Given the description of an element on the screen output the (x, y) to click on. 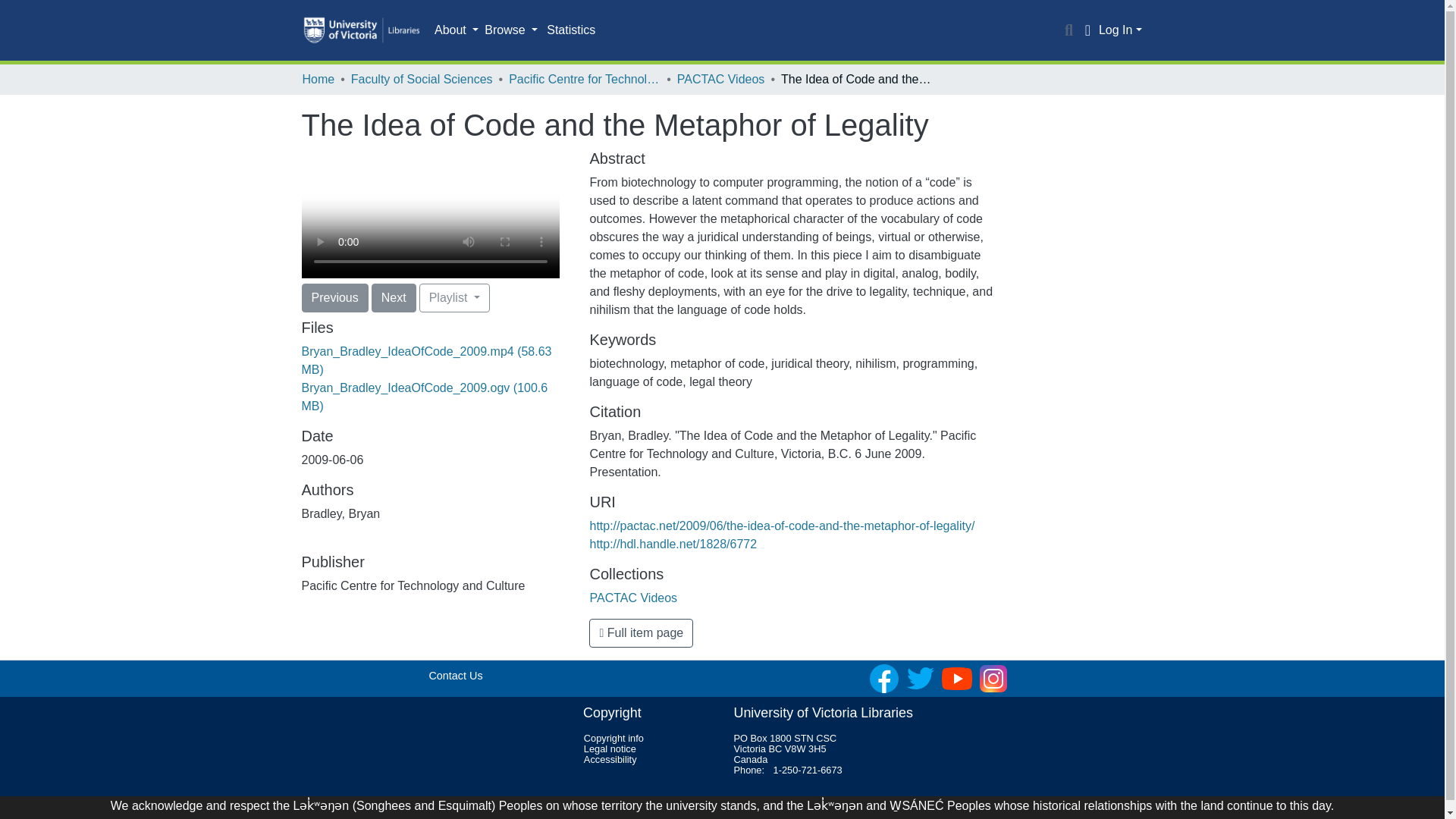
Faculty of Social Sciences (421, 79)
Previous (334, 297)
Statistics (570, 30)
About (455, 30)
Search (1068, 30)
Browse (510, 30)
Language switch (1087, 30)
Playlist (454, 297)
Next (393, 297)
Statistics (570, 30)
Home (317, 79)
Log In (1119, 29)
PACTAC Videos (721, 79)
